Given the description of an element on the screen output the (x, y) to click on. 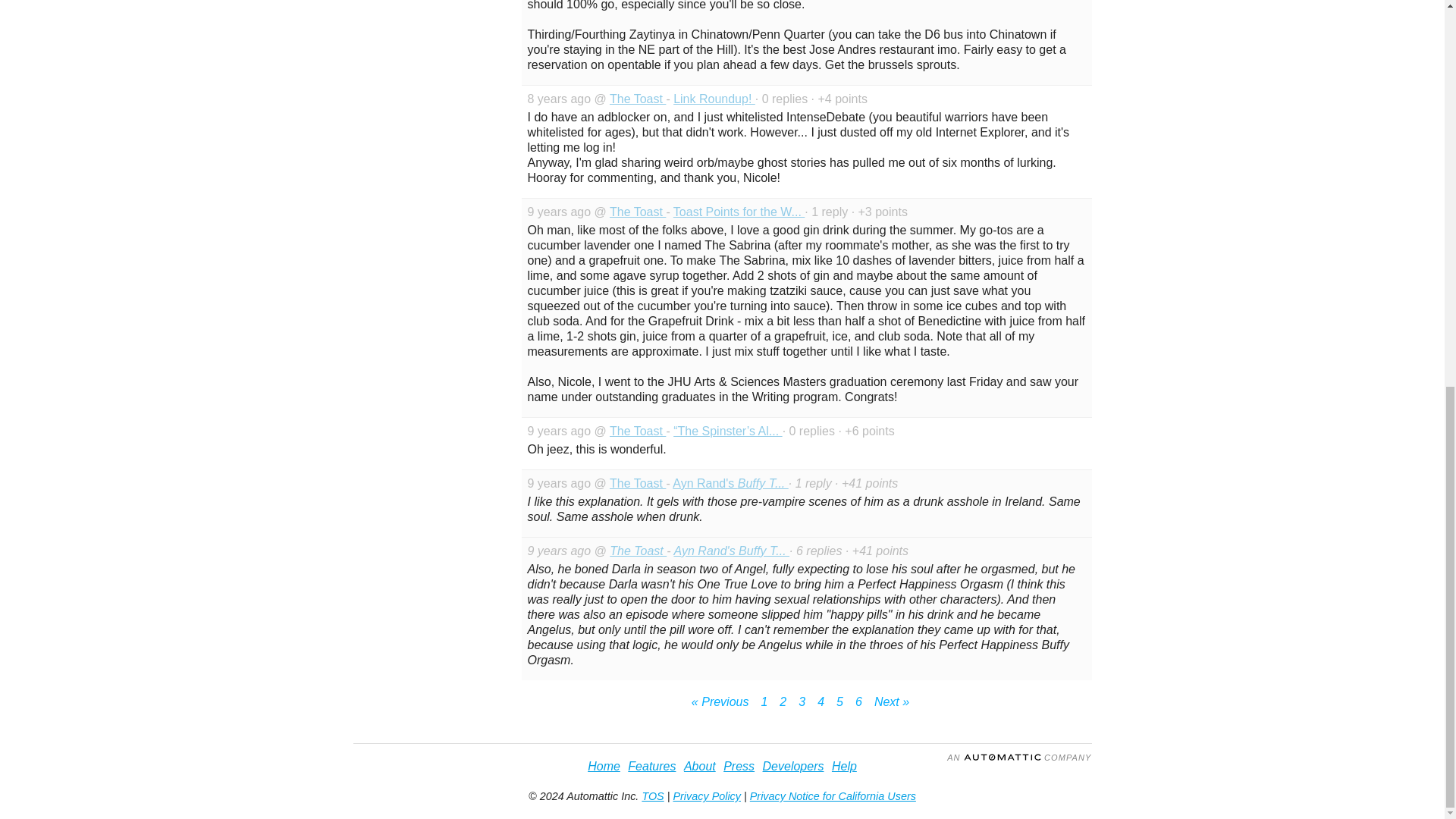
The Toast (637, 98)
About (700, 766)
Ayn Rand's Buffy T... (729, 482)
The Toast (637, 211)
The Toast (637, 431)
The Toast (637, 482)
Ayn Rand's Buffy T... (730, 550)
Toast Points for the W... (738, 211)
Press (738, 766)
AN COMPANY (1018, 757)
Link Roundup! (713, 98)
The Toast (638, 550)
Developers (793, 766)
Help (844, 766)
Home (604, 766)
